Given the description of an element on the screen output the (x, y) to click on. 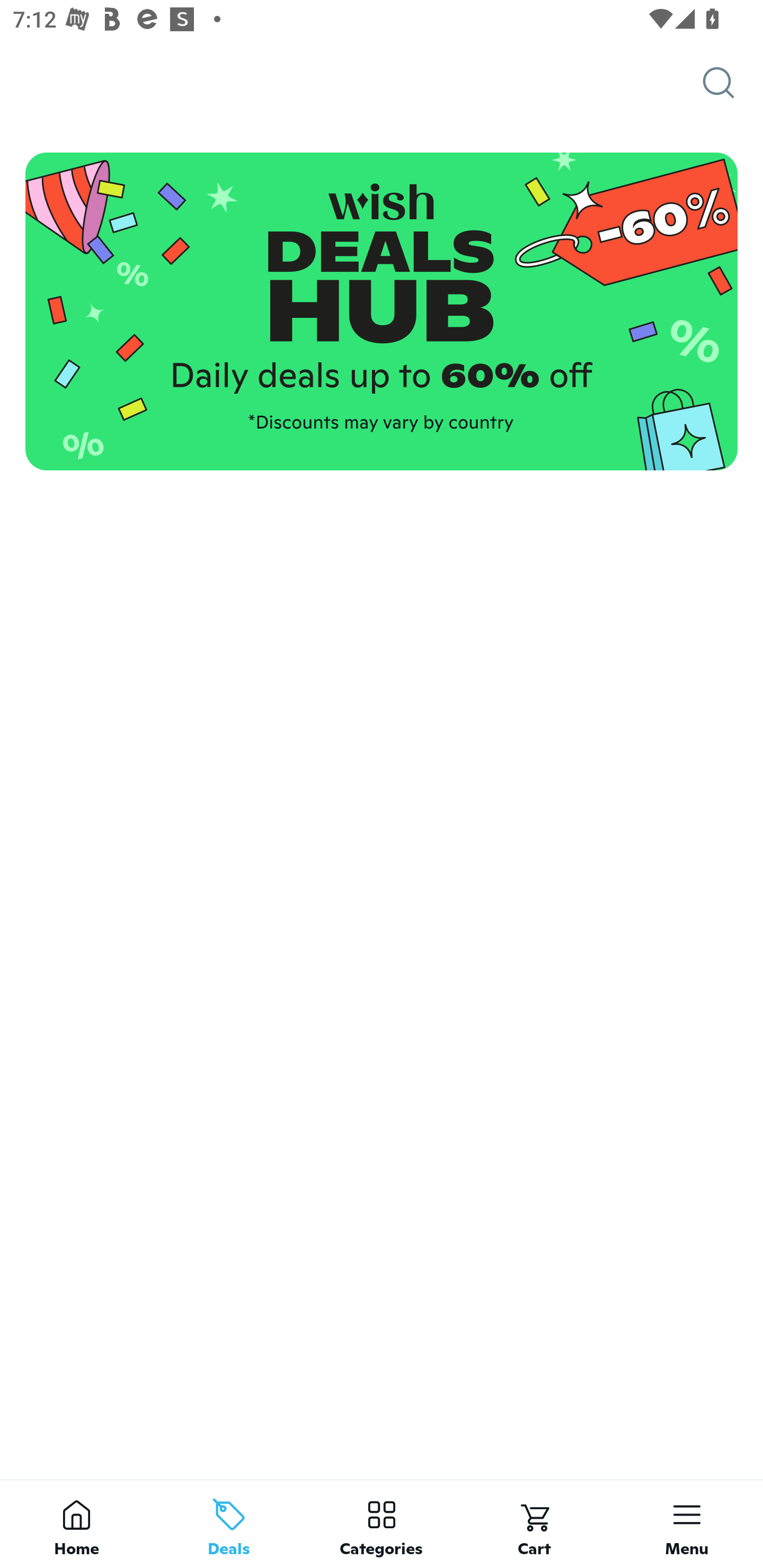
Search (732, 82)
Home (76, 1523)
Deals (228, 1523)
Categories (381, 1523)
Cart (533, 1523)
Menu (686, 1523)
